Given the description of an element on the screen output the (x, y) to click on. 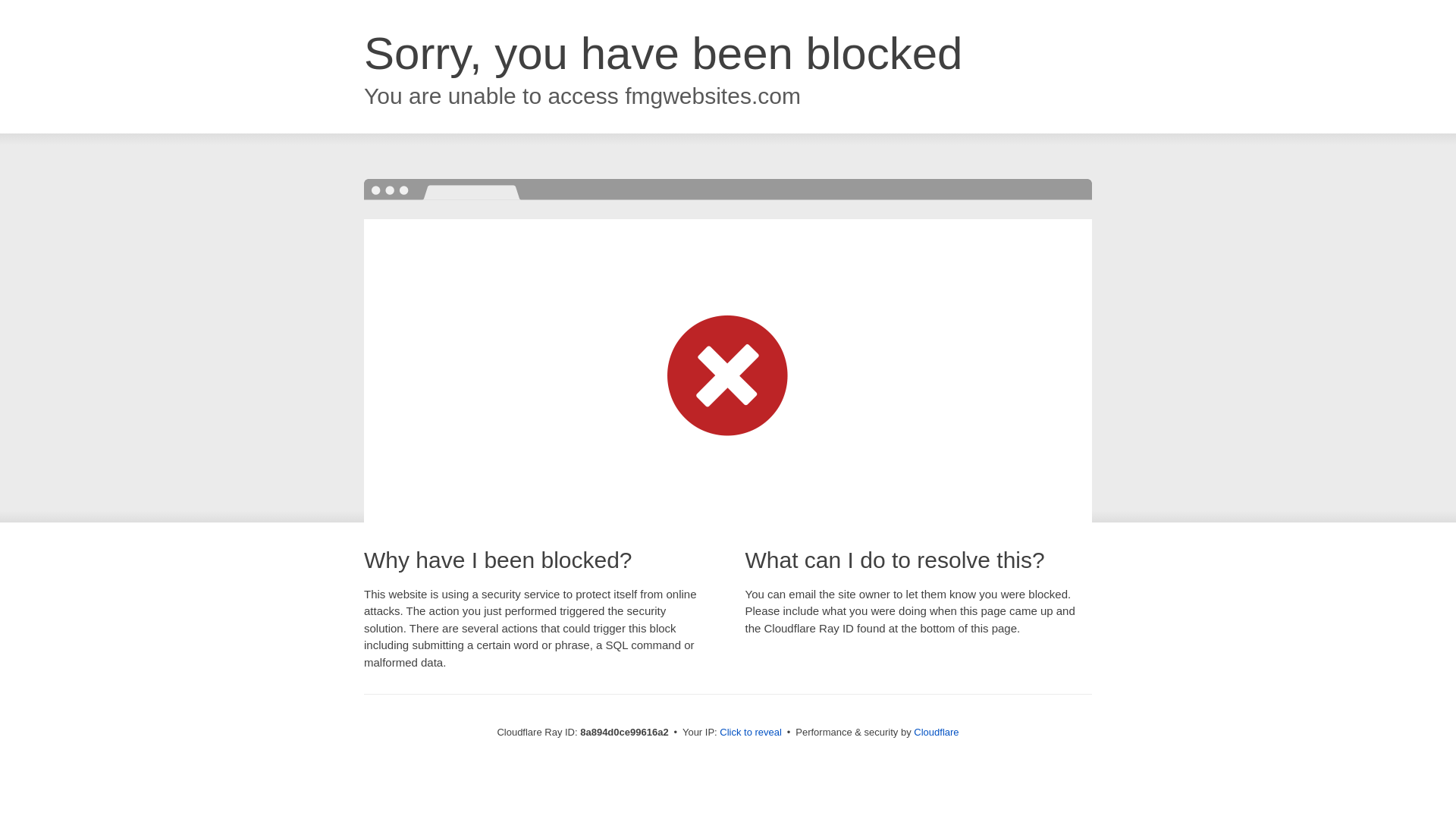
Cloudflare (936, 731)
Click to reveal (750, 732)
